Given the description of an element on the screen output the (x, y) to click on. 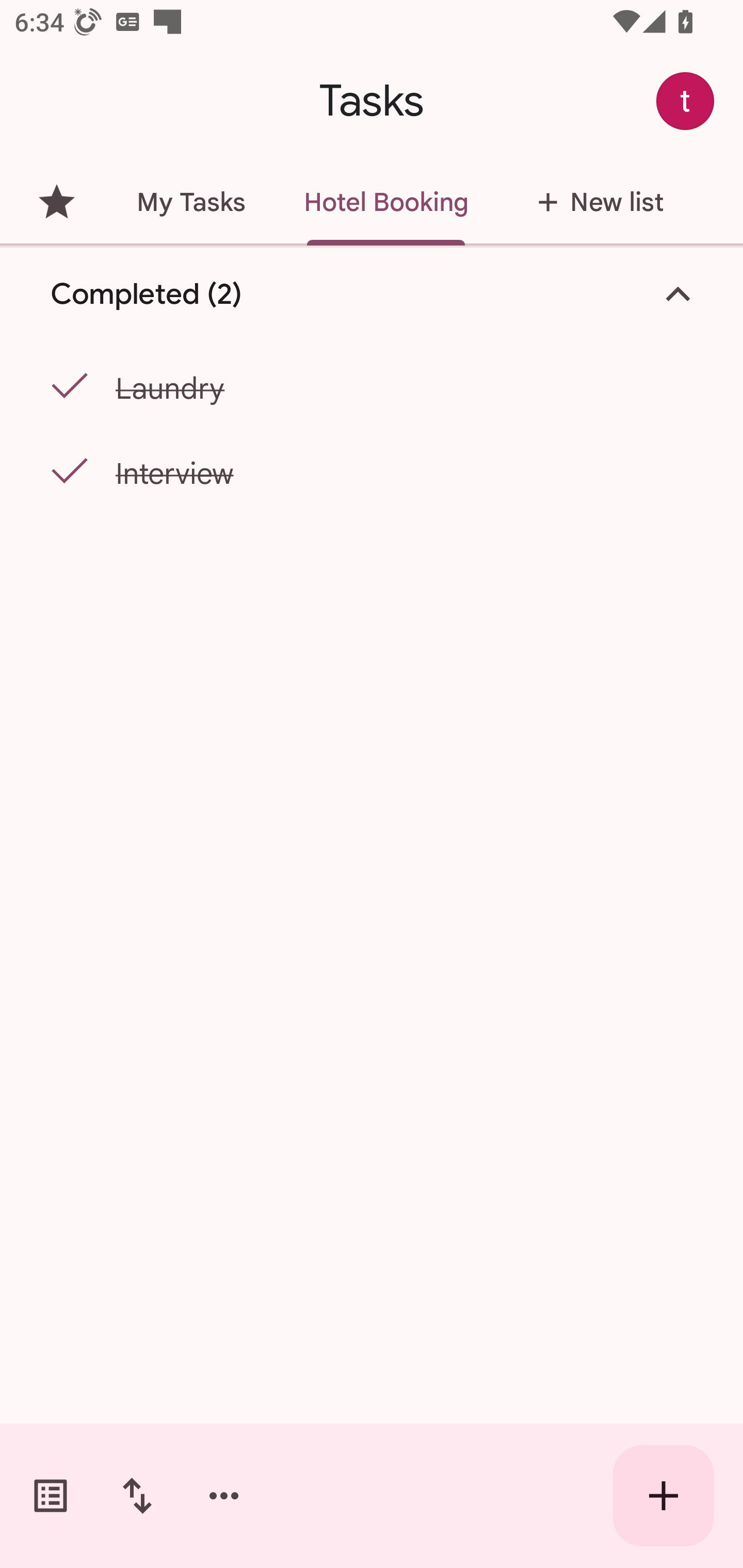
Starred (55, 202)
My Tasks (190, 202)
New list (594, 202)
Completed (2) (371, 294)
LaundryCompleted task Laundry Mark as not complete (371, 383)
Mark as not complete (64, 387)
Mark as not complete (64, 471)
Switch task lists (50, 1495)
Create new task (663, 1495)
Change sort order (136, 1495)
More options (223, 1495)
